Given the description of an element on the screen output the (x, y) to click on. 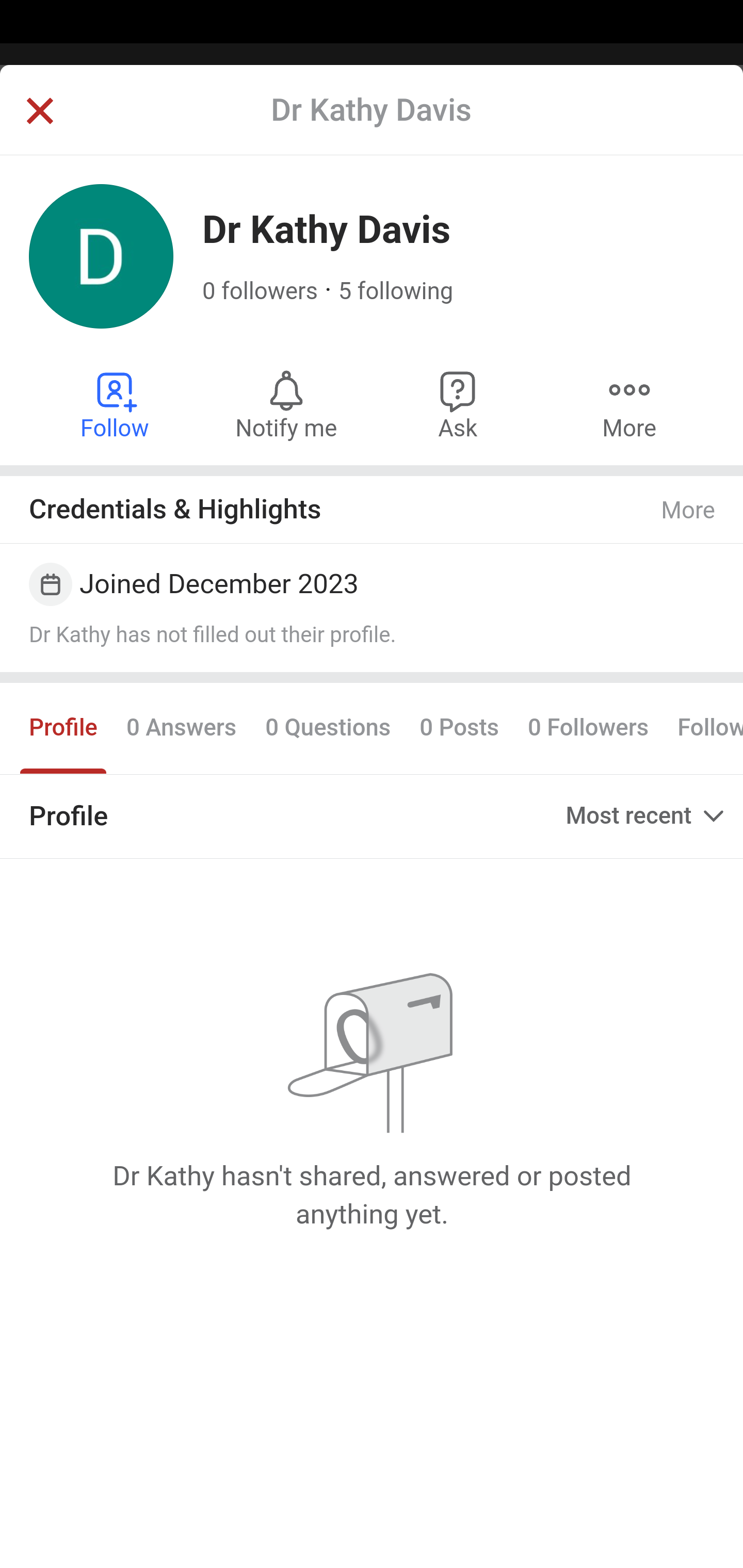
 (39, 112)
0 followers (260, 291)
5 following (395, 291)
Follow Dr Kathy Davis Follow (115, 404)
Notify me (285, 404)
Ask (458, 404)
More (628, 404)
More (688, 510)
Profile (63, 728)
0 Answers (180, 728)
0 Questions (327, 728)
0 Posts (459, 728)
0 Followers (588, 728)
Most recent (647, 816)
